Given the description of an element on the screen output the (x, y) to click on. 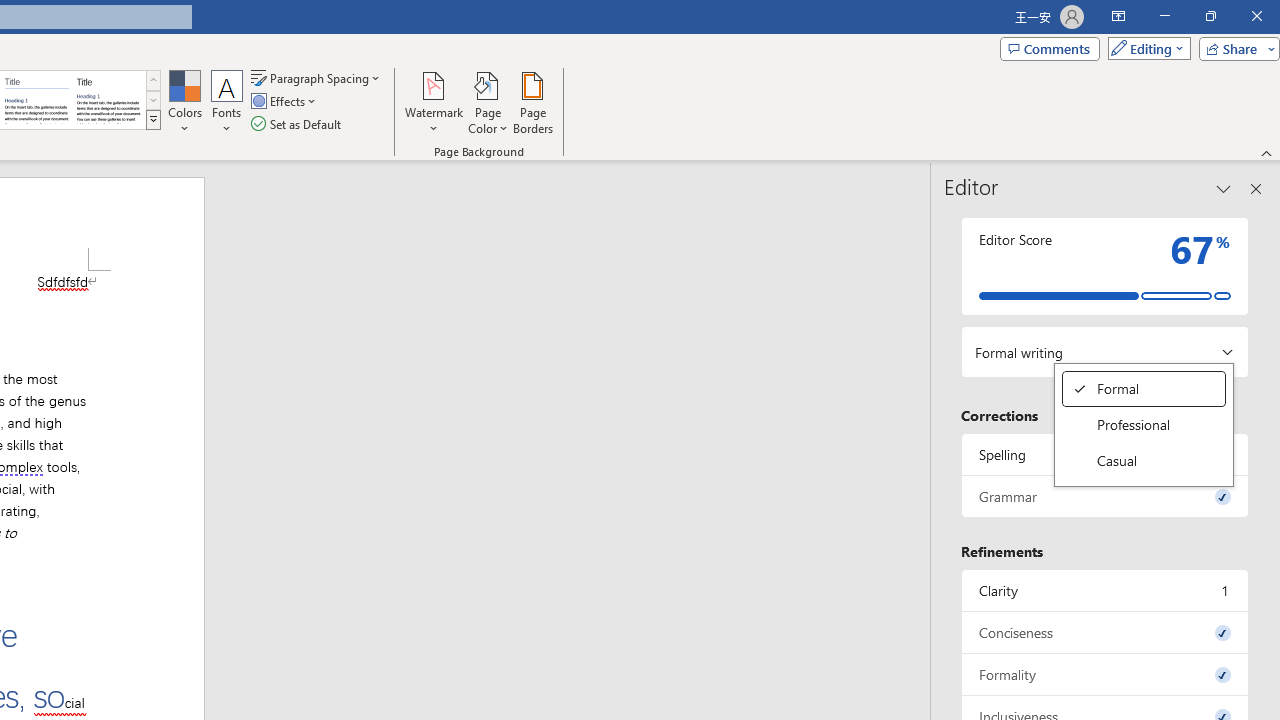
Page Borders... (532, 102)
